Given the description of an element on the screen output the (x, y) to click on. 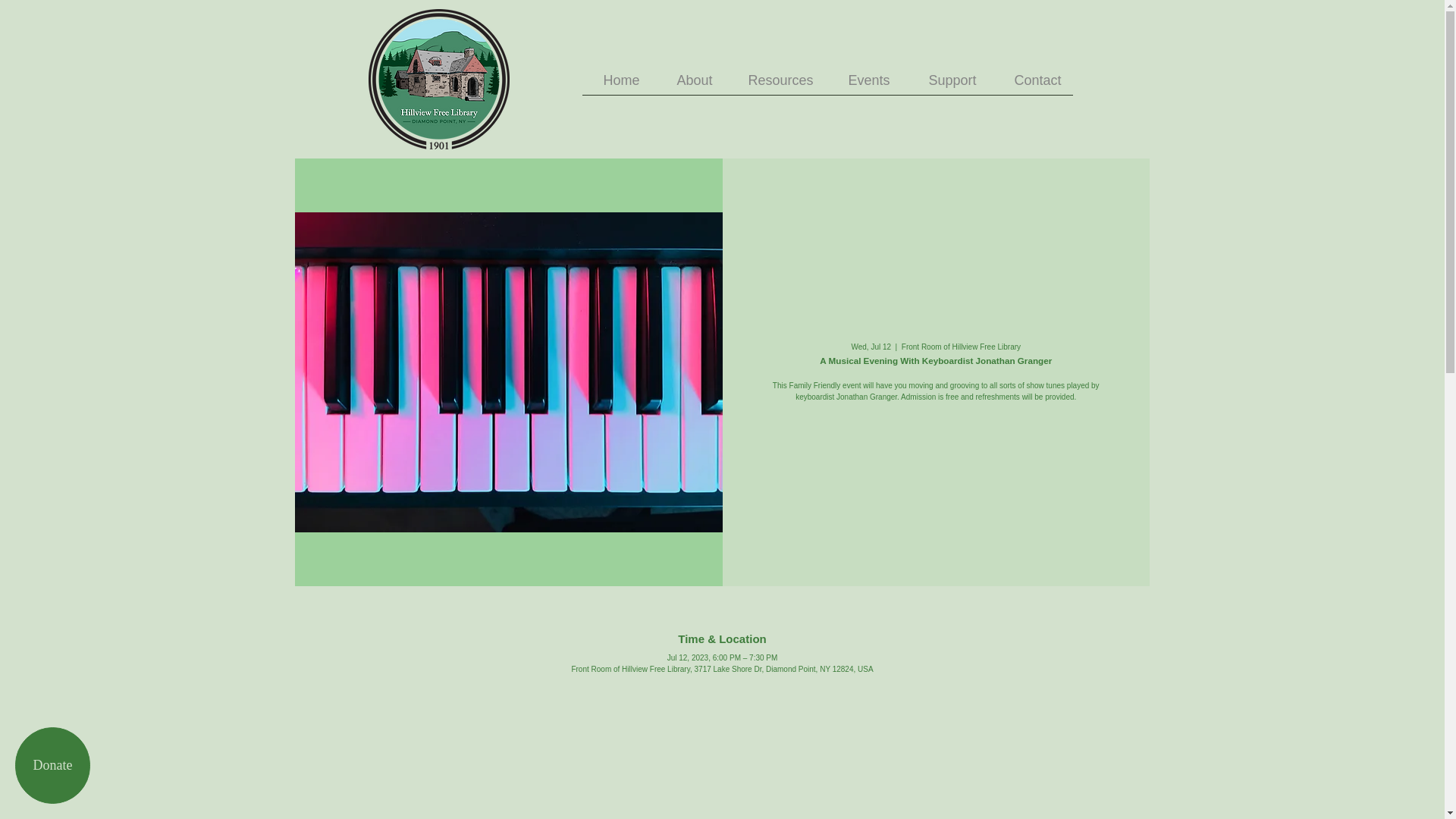
About (686, 85)
Resources (773, 85)
Donate (52, 765)
Support (944, 85)
Home (616, 85)
Contact (1029, 85)
Events (863, 85)
